Given the description of an element on the screen output the (x, y) to click on. 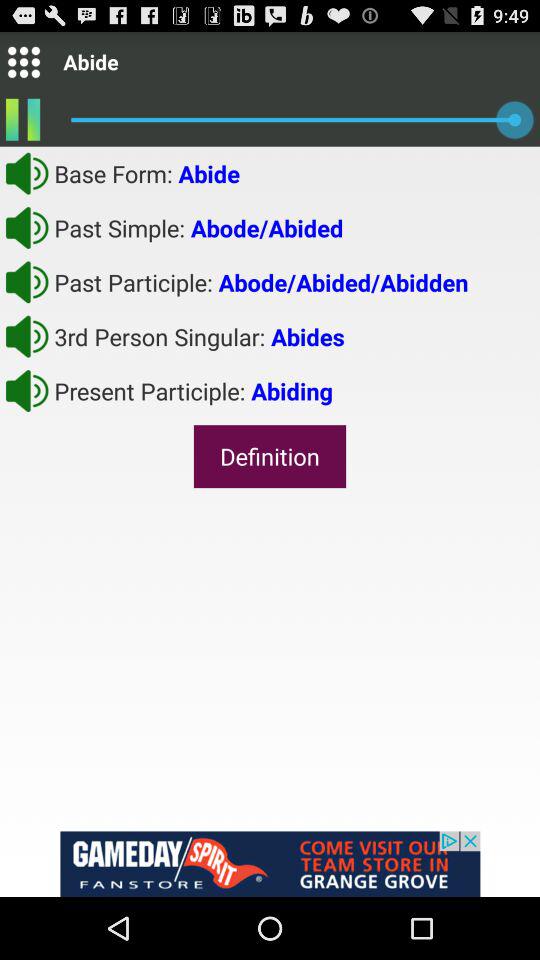
select the volume option (27, 336)
